Given the description of an element on the screen output the (x, y) to click on. 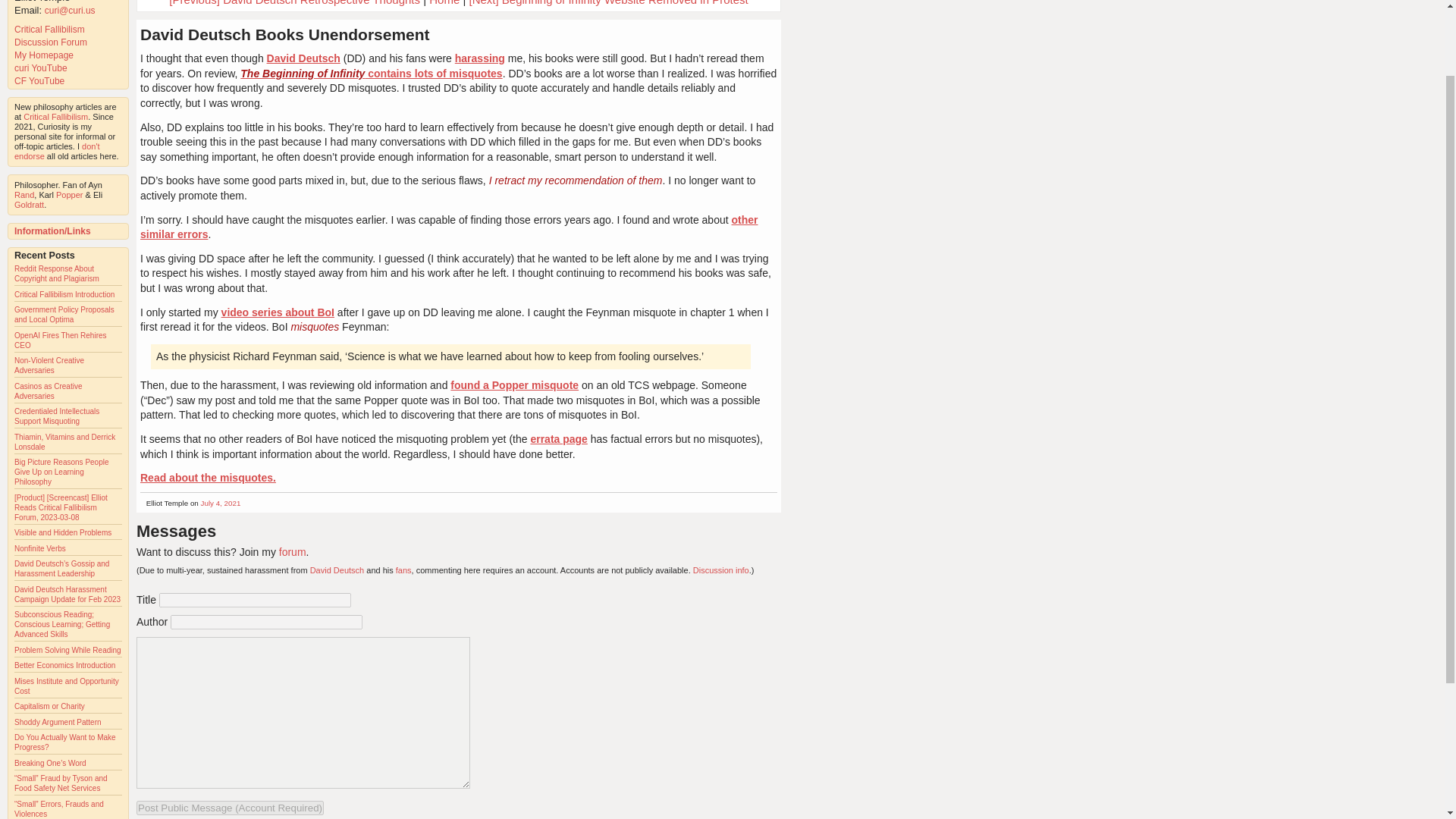
Shoddy Argument Pattern (57, 722)
Reddit Response About Copyright and Plagiarism (56, 273)
Mises Institute and Opportunity Cost (66, 686)
Popper (69, 194)
Critical Fallibilism (49, 29)
Critical Fallibilism (55, 116)
Thiamin, Vitamins and Derrick Lonsdale (64, 442)
don't endorse (57, 150)
Goldratt (28, 204)
